Given the description of an element on the screen output the (x, y) to click on. 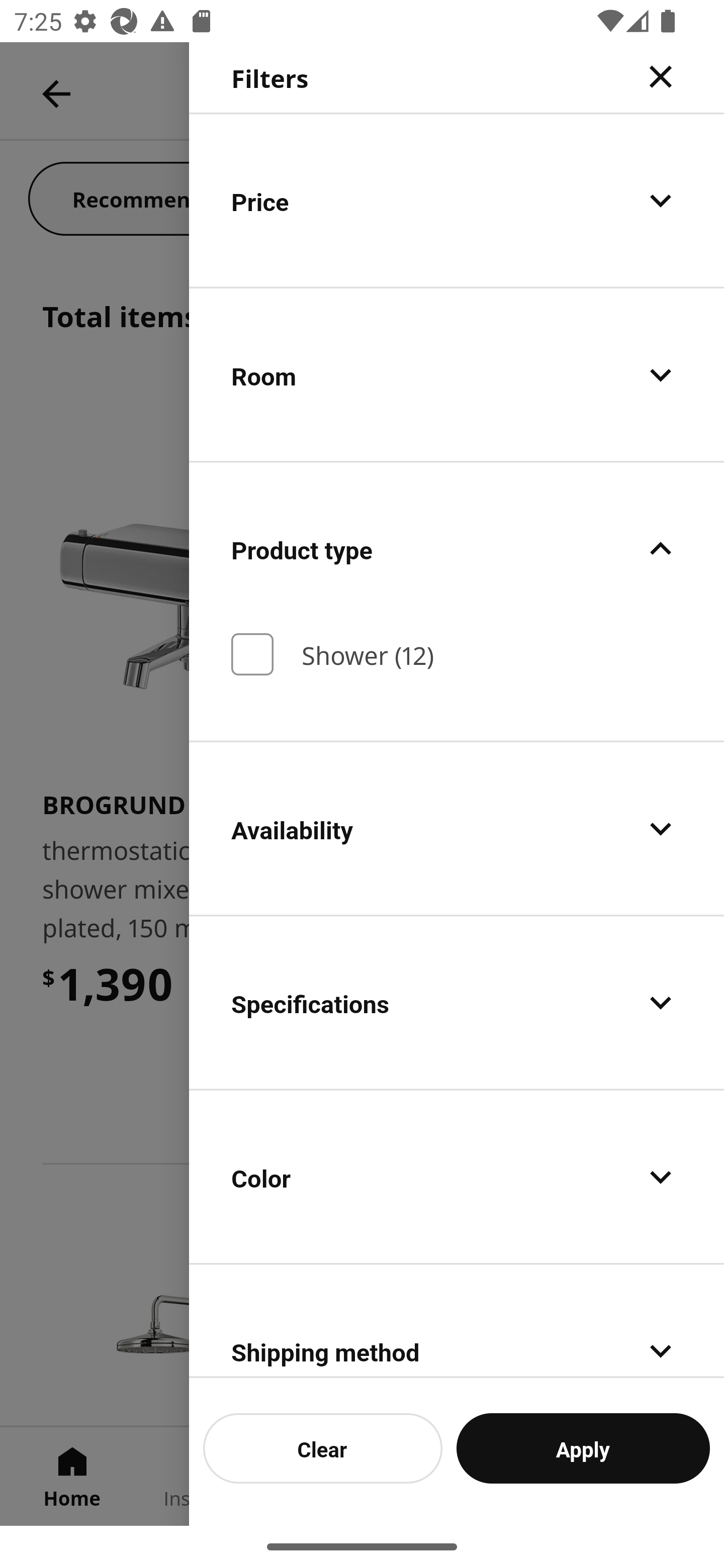
Price (456, 200)
Room (456, 374)
Product type (456, 548)
Shower (12) (456, 654)
Availability (456, 828)
Specifications (456, 1002)
Color (456, 1176)
Shipping method (456, 1321)
Clear (322, 1447)
Apply (583, 1447)
